Given the description of an element on the screen output the (x, y) to click on. 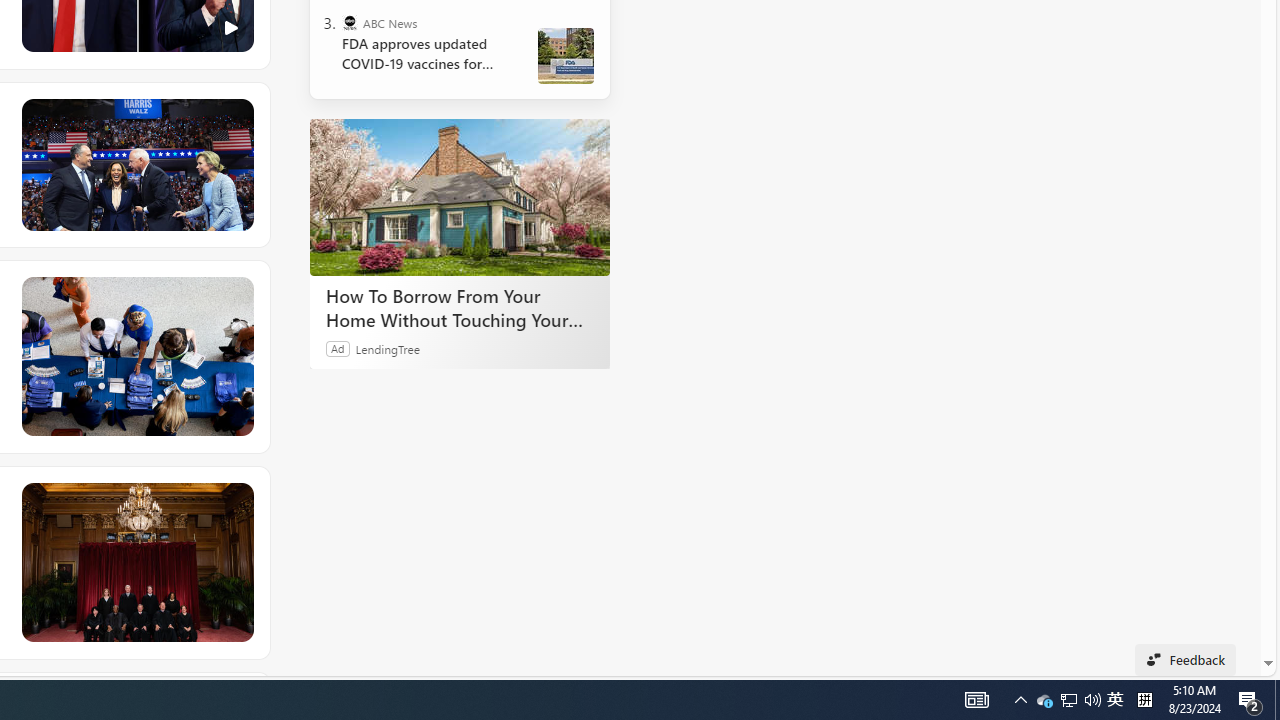
How To Borrow From Your Home Without Touching Your Mortgage (459, 307)
How To Borrow From Your Home Without Touching Your Mortgage (459, 196)
ABC News (349, 22)
LendingTree (387, 348)
